Given the description of an element on the screen output the (x, y) to click on. 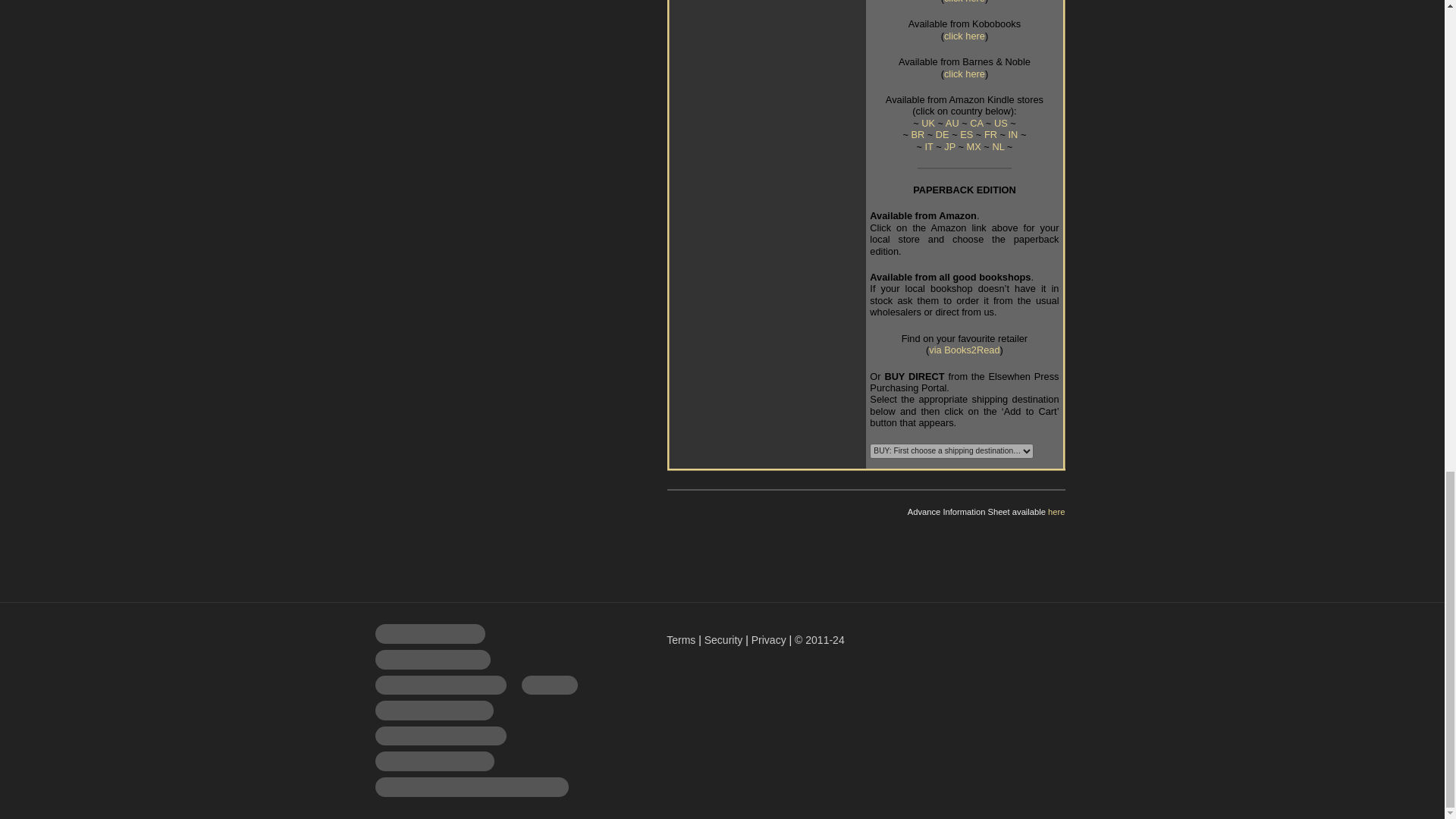
Buy now on Amazon Spanish Kindle store (965, 134)
Buy now on Amazon US Kindle store (1000, 122)
click here (964, 35)
click here (964, 73)
Buy now on Amazon Brazilian Kindle store (917, 134)
Buy now on BN.com (964, 73)
Buy now on Amazon Australian Kindle store (951, 122)
UK (927, 122)
Buy now on Amazon UK Kindle store (927, 122)
CA (975, 122)
